Given the description of an element on the screen output the (x, y) to click on. 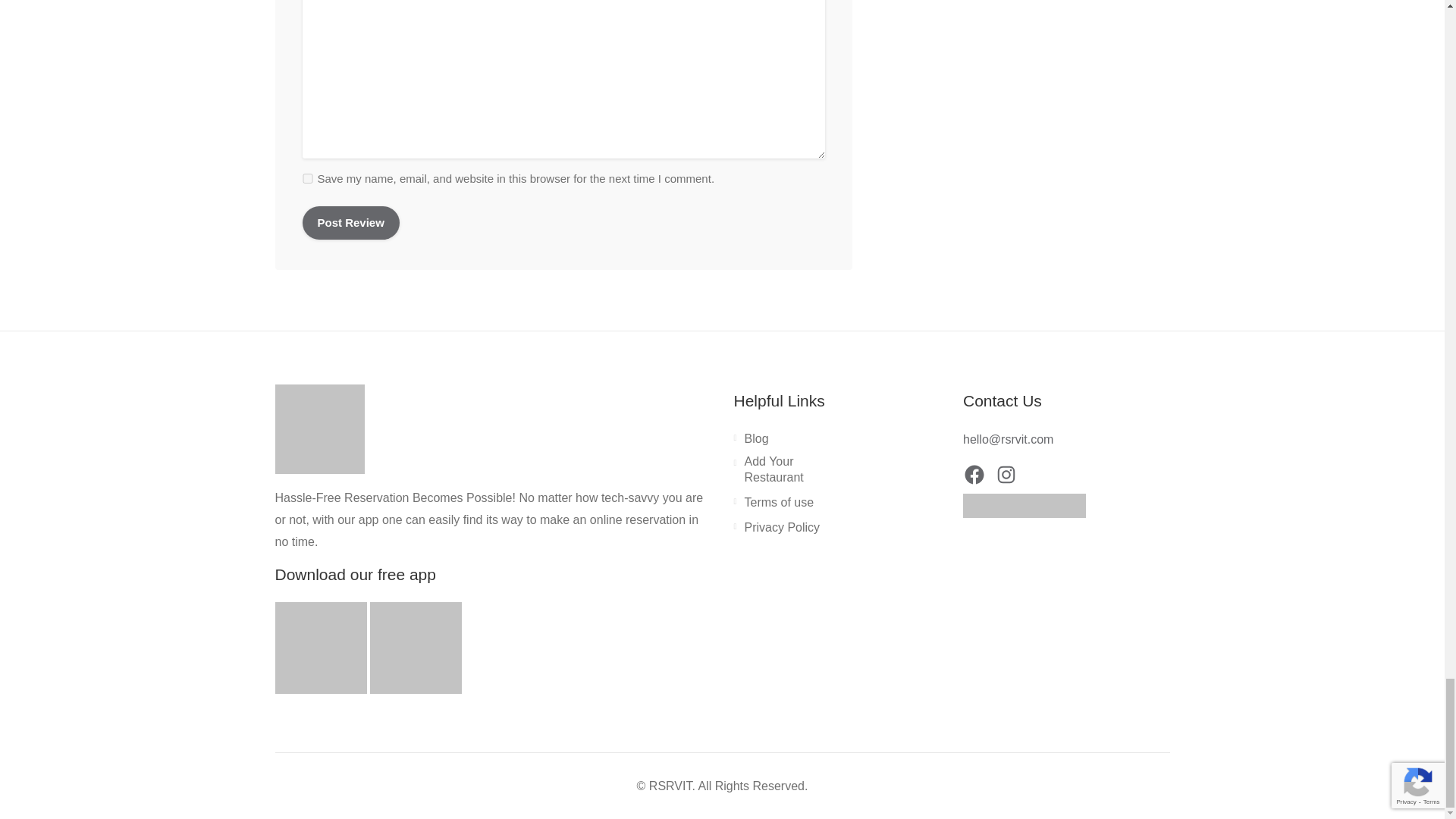
Post Review (349, 222)
yes (307, 178)
